Given the description of an element on the screen output the (x, y) to click on. 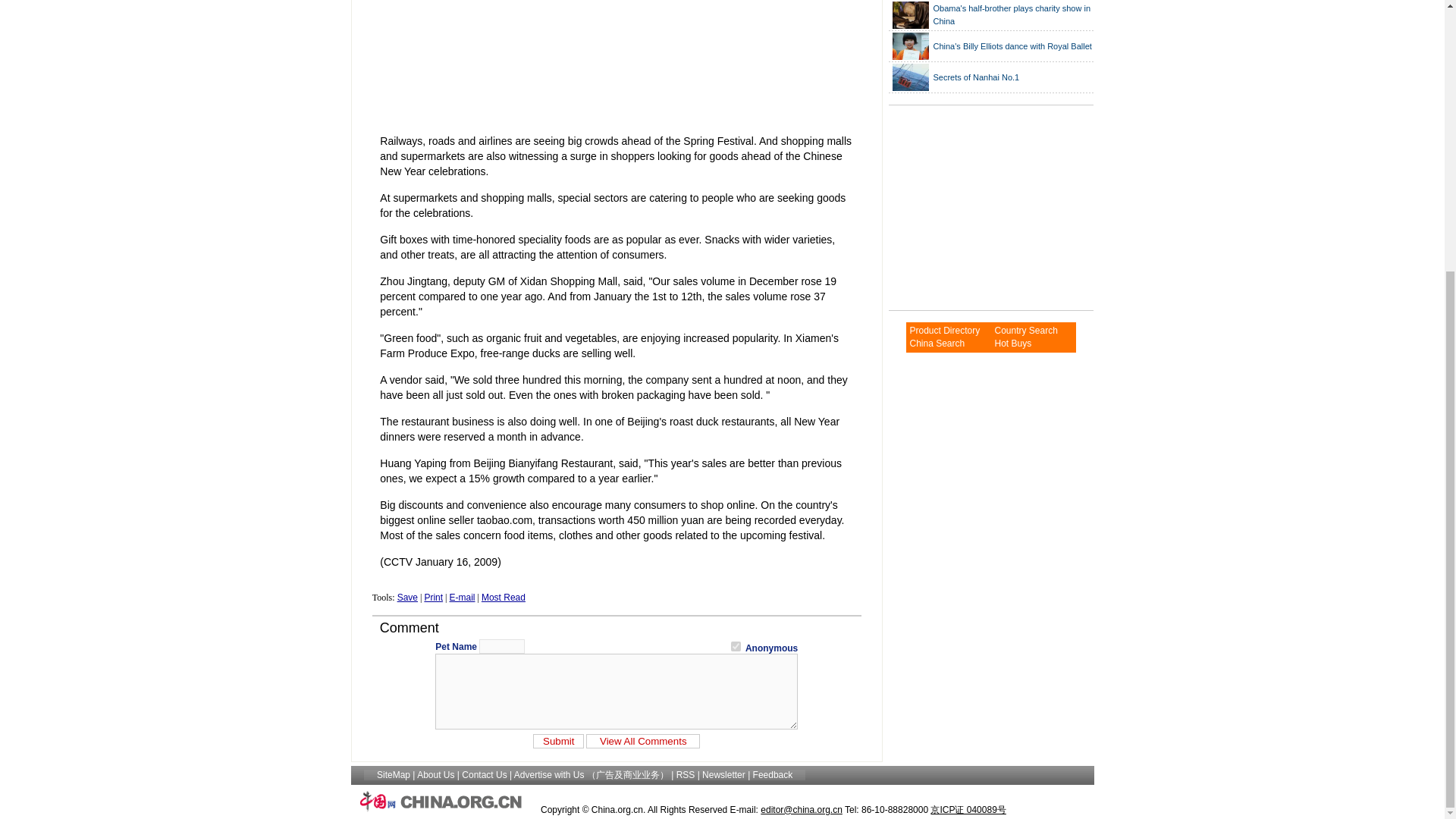
Hot Products (1012, 343)
E-mail (461, 597)
China Suppliers (1025, 330)
1 (735, 646)
View All Comments (643, 740)
Submit (557, 740)
Alibaba China (935, 343)
Save (407, 597)
Advertisement (983, 207)
Most Read (503, 597)
Alibaba Directory (943, 330)
Print (432, 597)
